Given the description of an element on the screen output the (x, y) to click on. 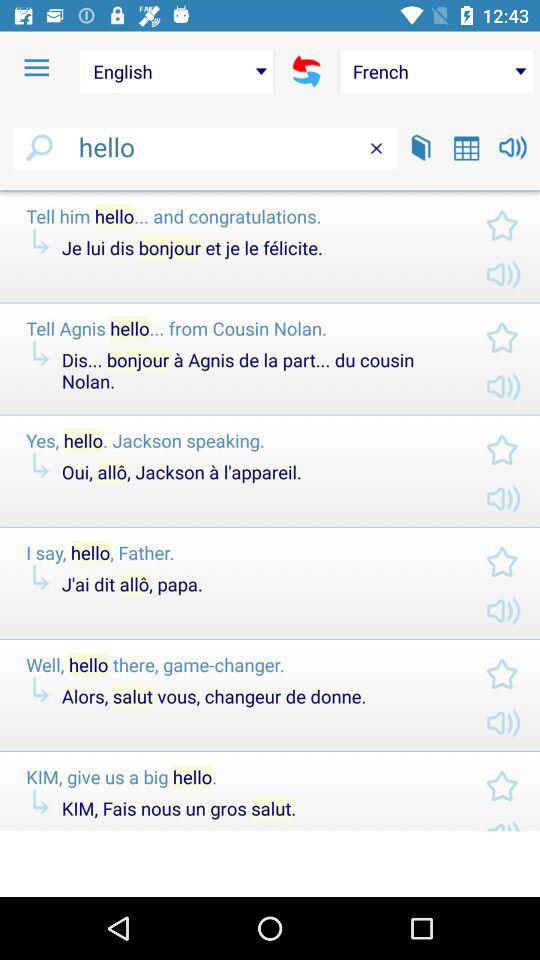
switch close option (376, 148)
